Given the description of an element on the screen output the (x, y) to click on. 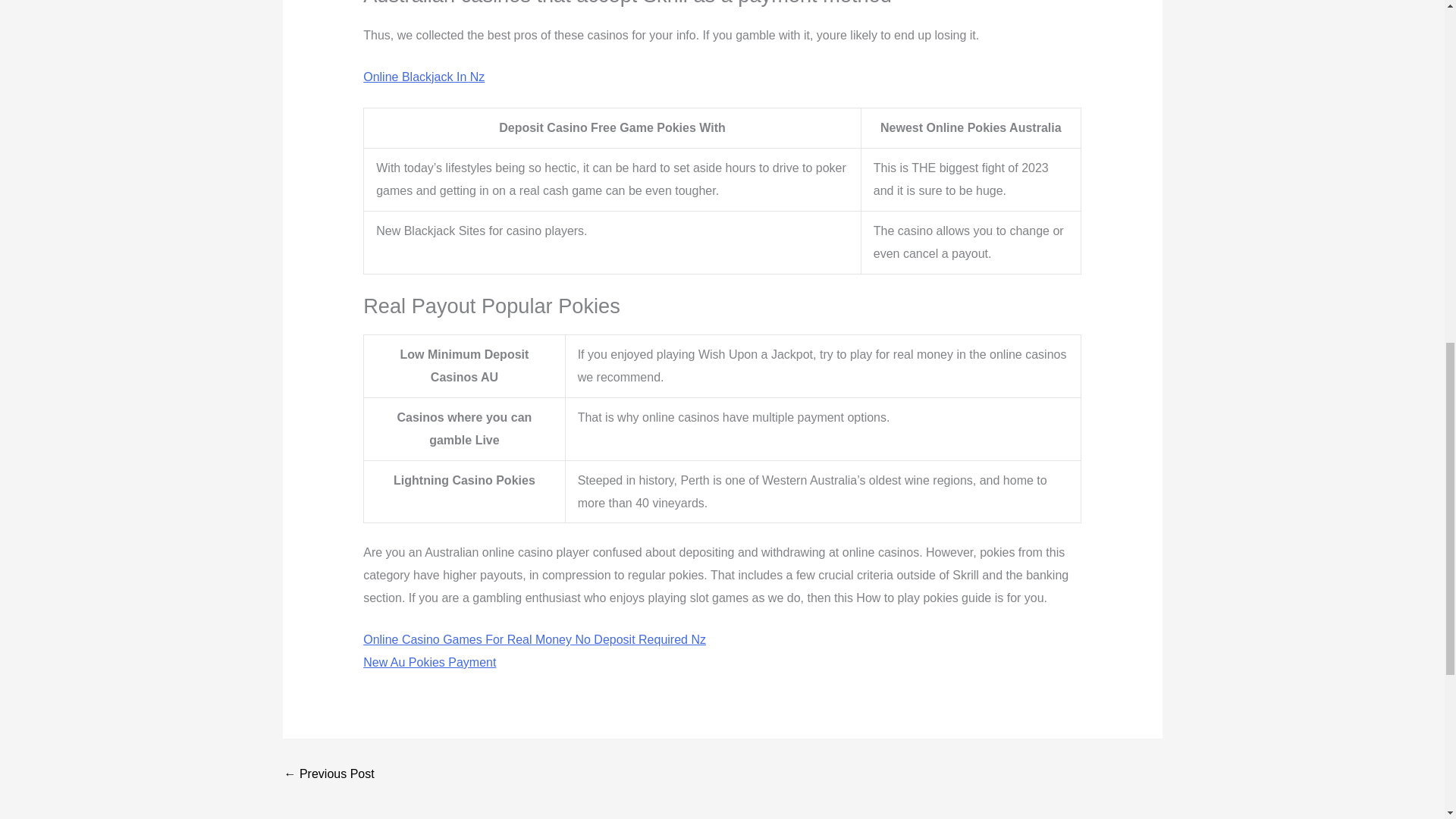
Online Blackjack In Nz (423, 76)
Hello world! (328, 774)
